Given the description of an element on the screen output the (x, y) to click on. 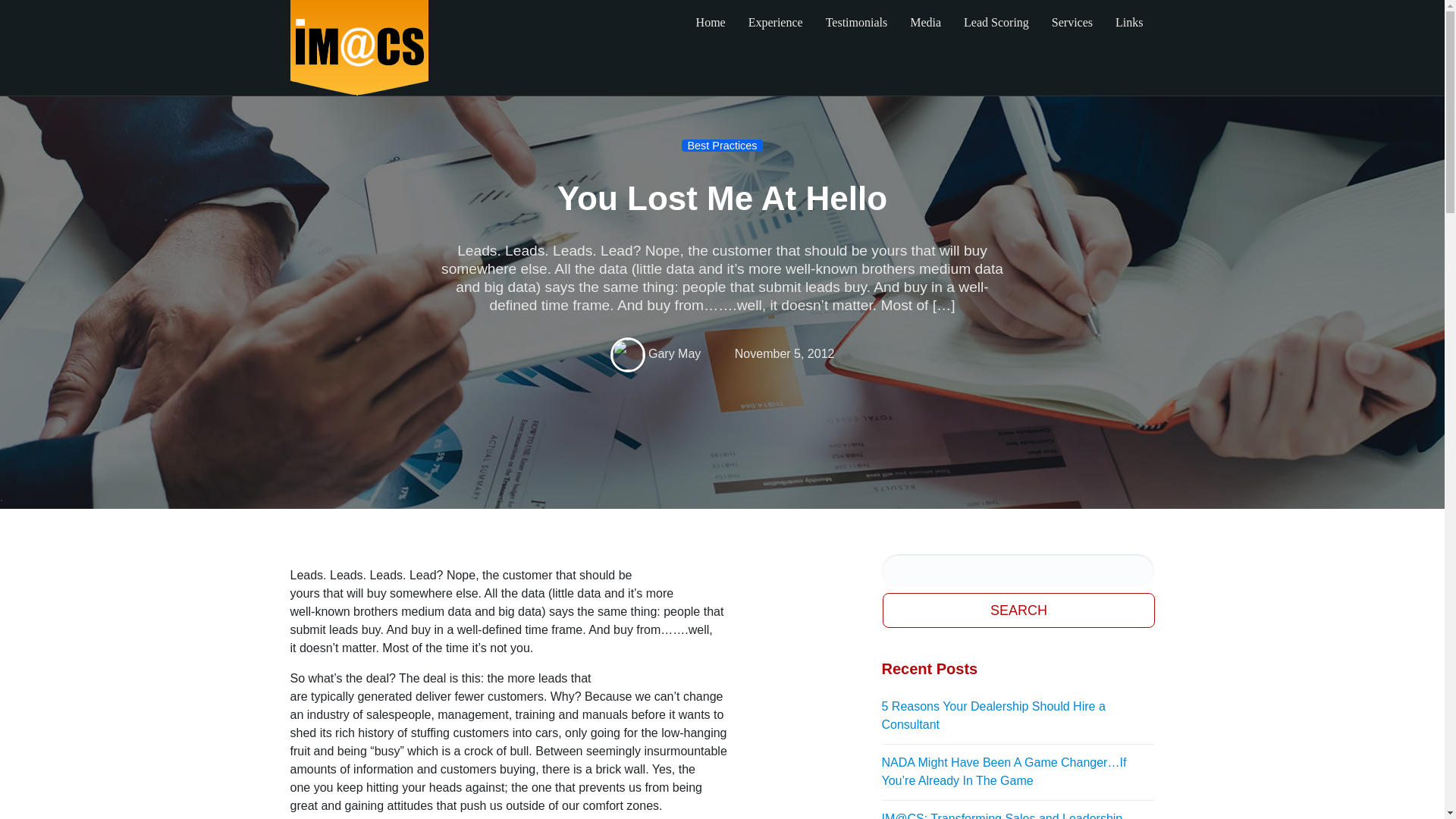
Links (1128, 22)
Experience (774, 22)
November 5, 2012 (784, 353)
5 Reasons Your Dealership Should Hire a Consultant (1017, 715)
Best Practices (721, 145)
Search (1019, 610)
Search (1019, 610)
Services (1072, 22)
Media (925, 22)
Home (710, 22)
Testimonials (856, 22)
Lead Scoring (996, 22)
Gary May (673, 353)
